Given the description of an element on the screen output the (x, y) to click on. 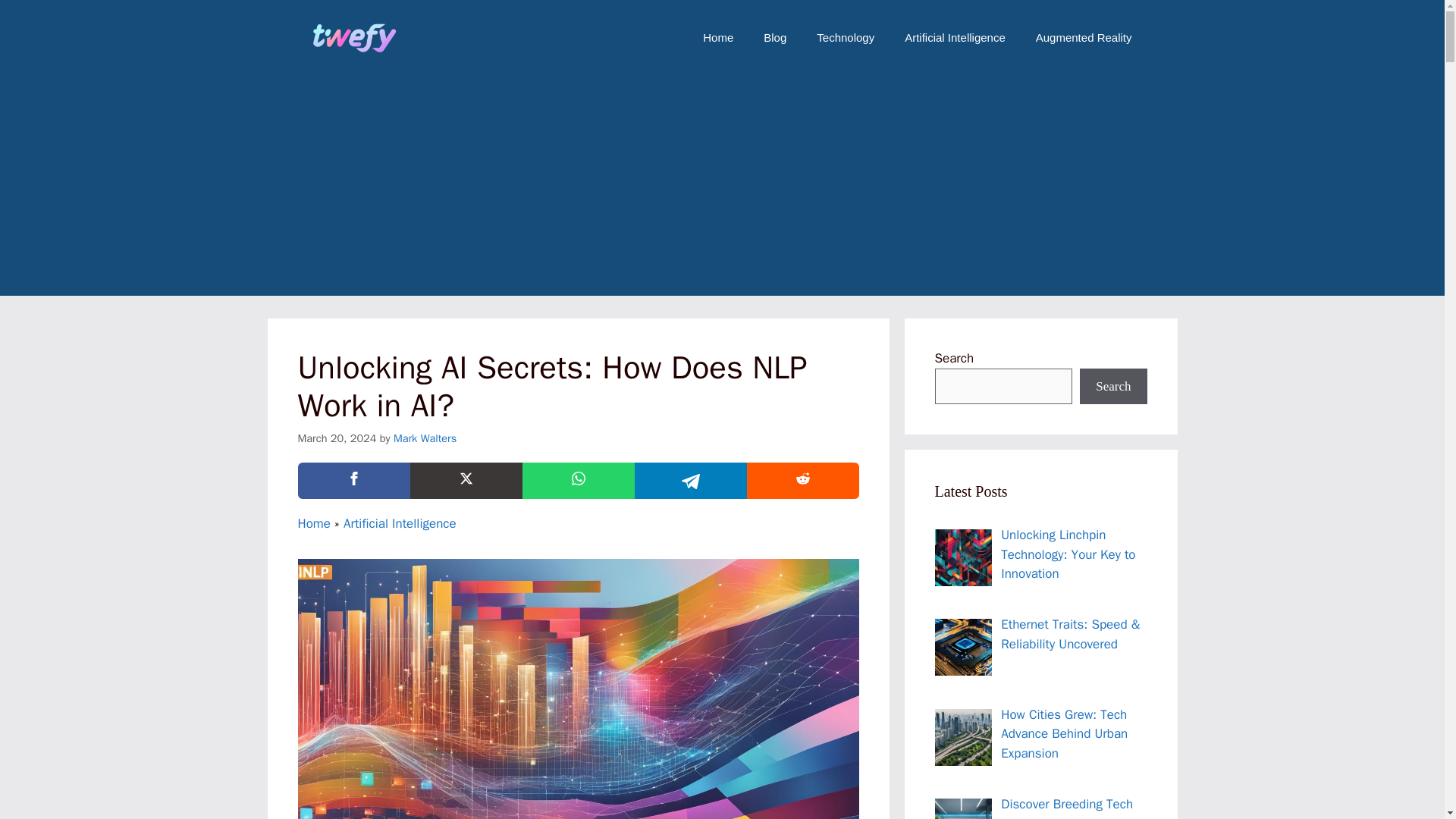
View all posts by Mark Walters (425, 438)
Artificial Intelligence (954, 37)
How Cities Grew: Tech Advance Behind Urban Expansion 4 (962, 737)
Augmented Reality (1083, 37)
Home (313, 523)
Blog (775, 37)
Mark Walters (425, 438)
Discover Breeding Tech with Gene Banking 5 (962, 808)
Technology (845, 37)
